Given the description of an element on the screen output the (x, y) to click on. 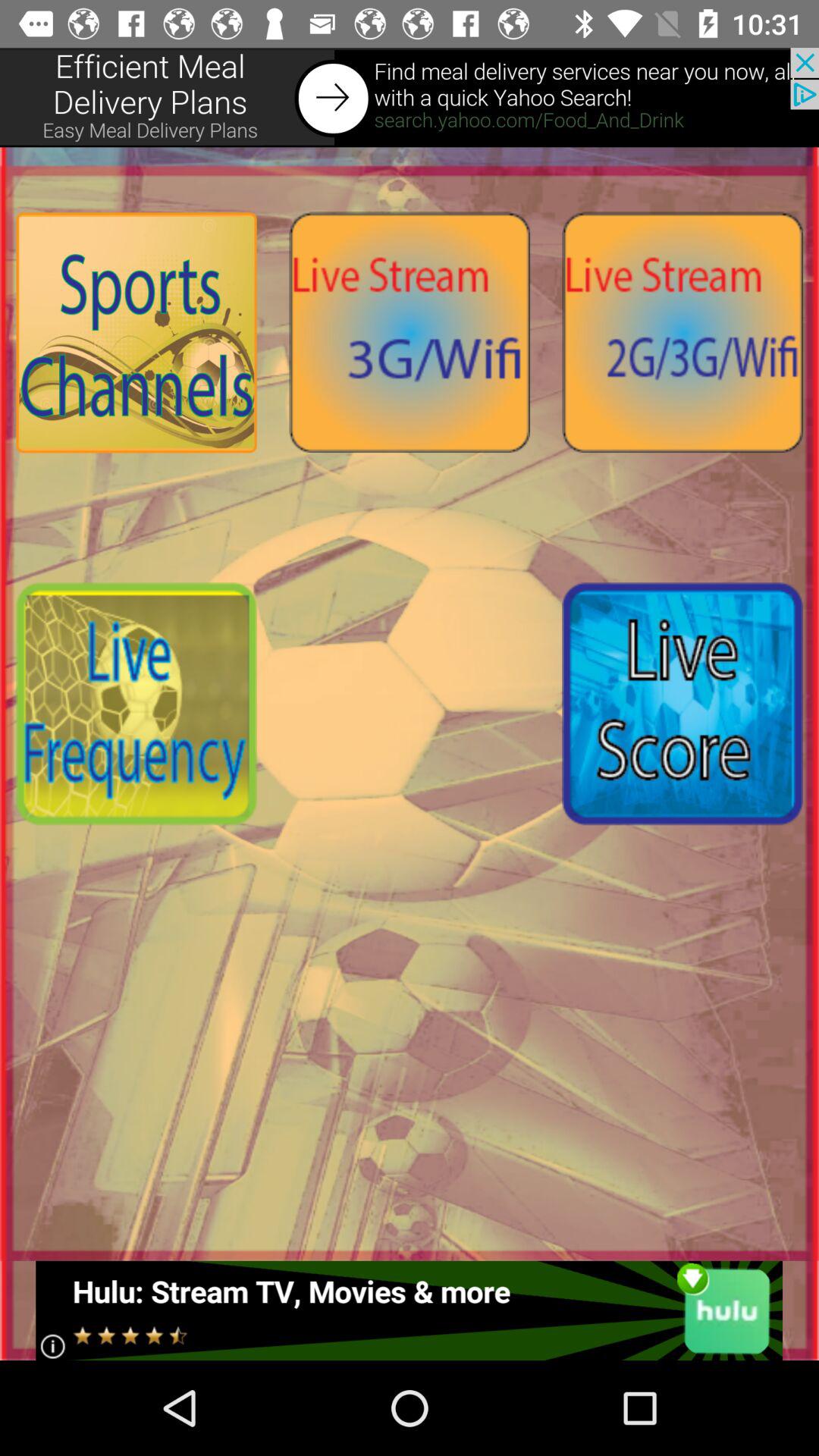
open live stream (409, 332)
